Given the description of an element on the screen output the (x, y) to click on. 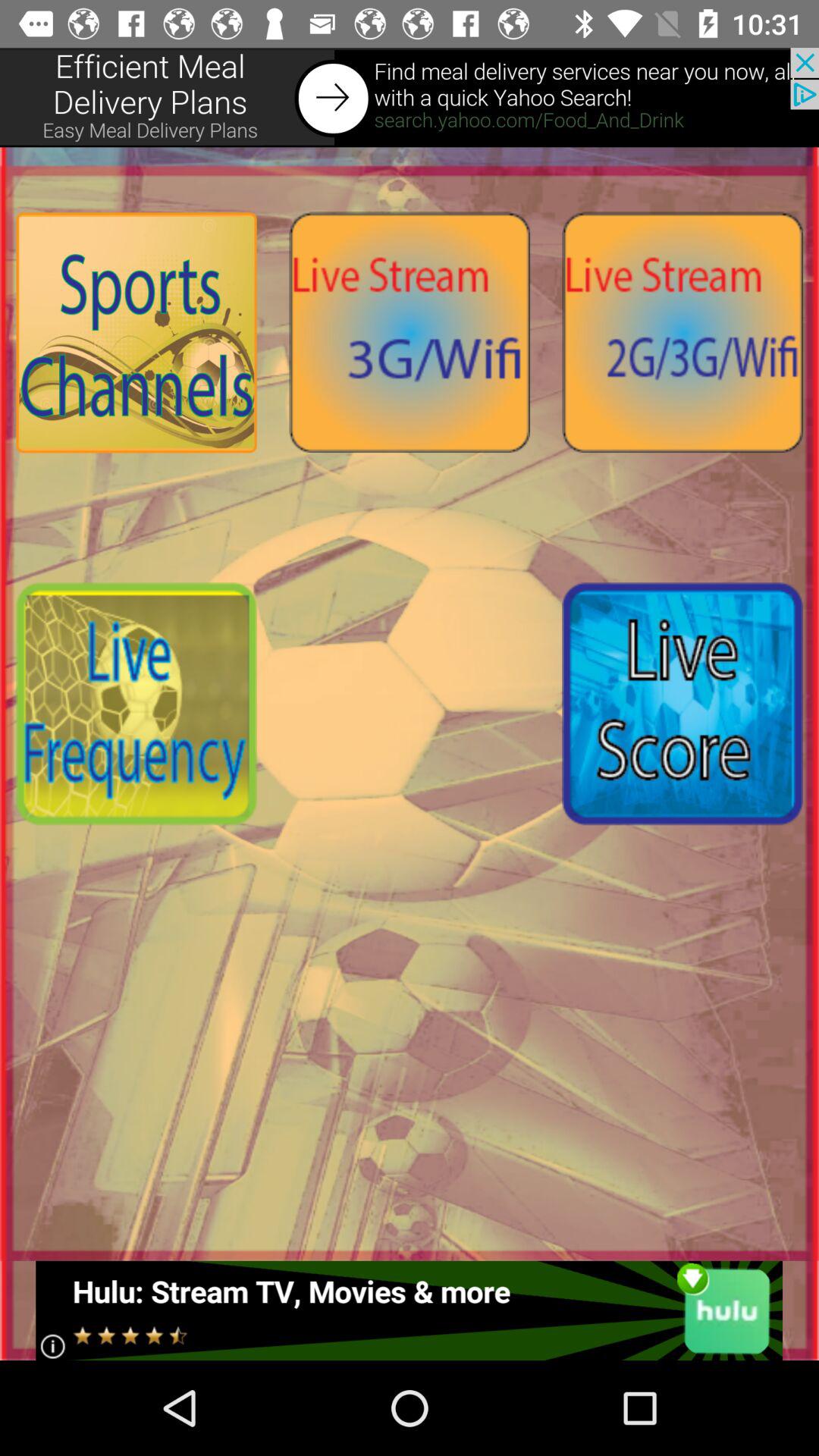
open live stream (409, 332)
